Given the description of an element on the screen output the (x, y) to click on. 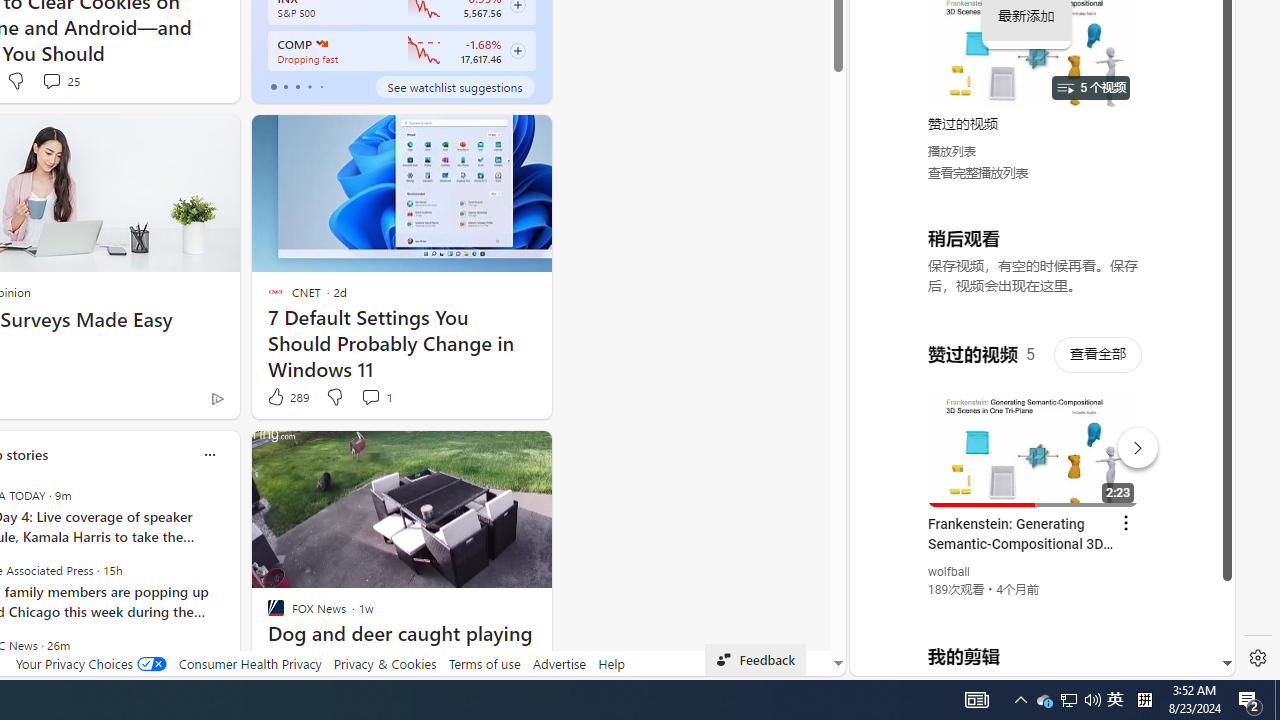
View comments 25 Comment (60, 80)
View comments 1 Comment (376, 397)
US[ju] (917, 660)
YouTube (1034, 432)
tab-2 (297, 86)
#you (1034, 439)
tab-4 (320, 86)
tab-3 (309, 86)
